Given the description of an element on the screen output the (x, y) to click on. 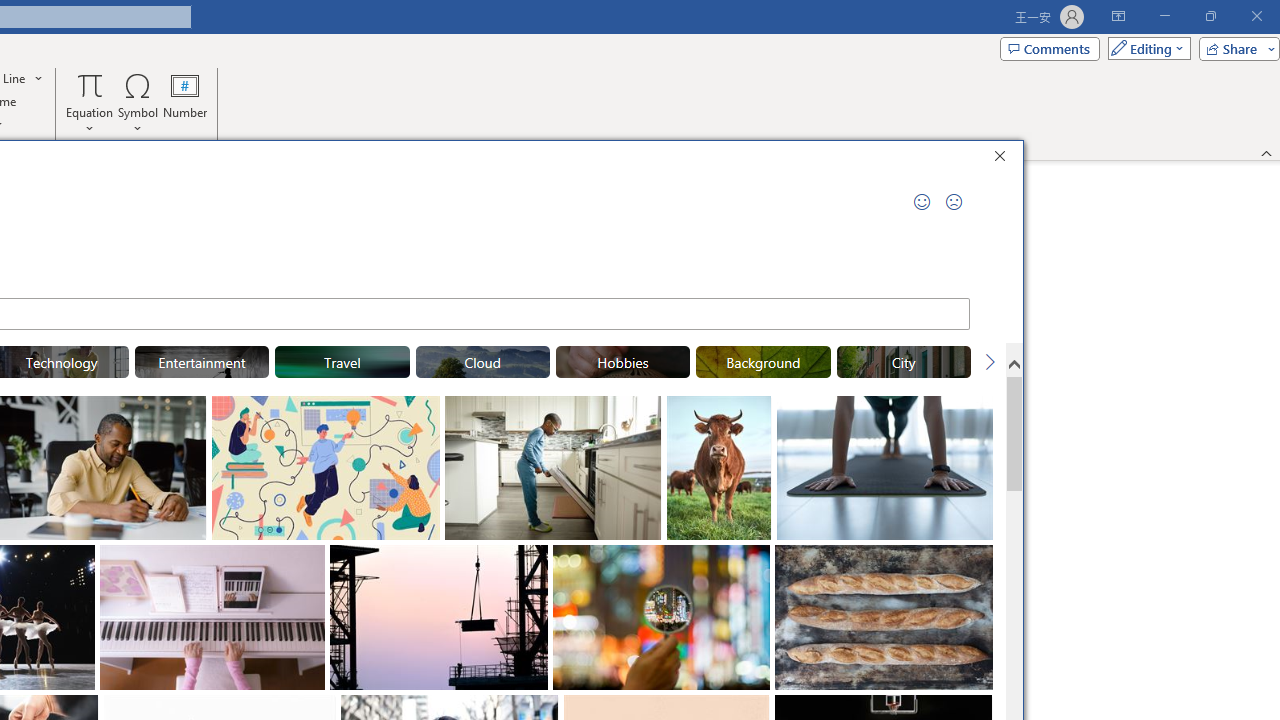
Send a Frown (954, 201)
"City" Stock Images. (904, 362)
Minimize (1164, 16)
"Background" Stock Images. (763, 362)
More Options (90, 121)
Ribbon Display Options (1118, 16)
"Cloud" Stock Images. (483, 362)
Share (1235, 48)
Restore Down (1210, 16)
"Hobbies" Stock Images. (622, 362)
Send a Smile (922, 201)
